Given the description of an element on the screen output the (x, y) to click on. 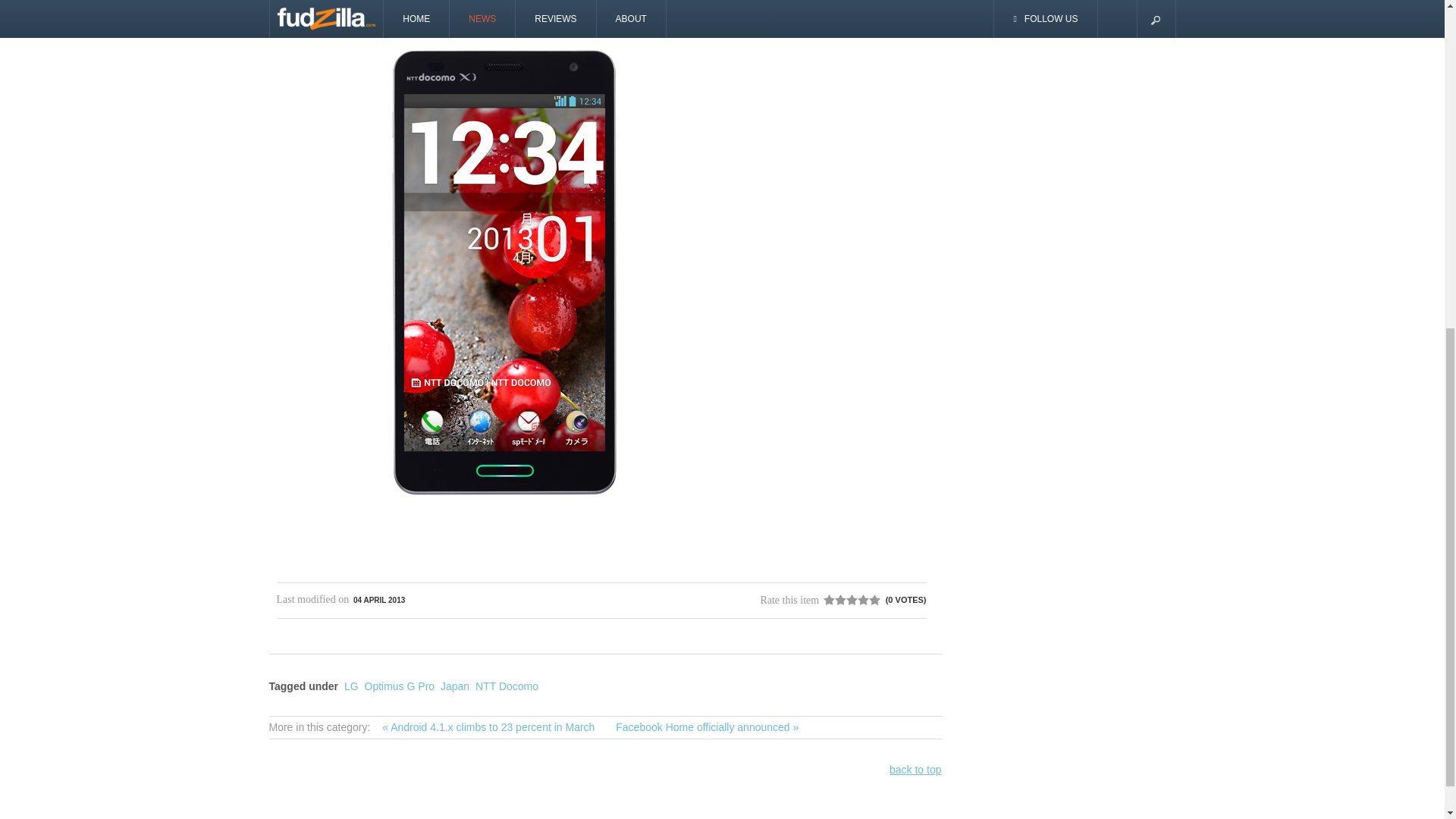
Optimus G Pro (398, 686)
2 (834, 599)
NTT Docomo (507, 686)
5 (852, 599)
5 stars out of 5 (852, 599)
Japan (454, 686)
1 (829, 599)
1 star out of 5 (829, 599)
3 stars out of 5 (840, 599)
4 (846, 599)
4 stars out of 5 (846, 599)
3 (840, 599)
2 stars out of 5 (834, 599)
LG (350, 686)
